Given the description of an element on the screen output the (x, y) to click on. 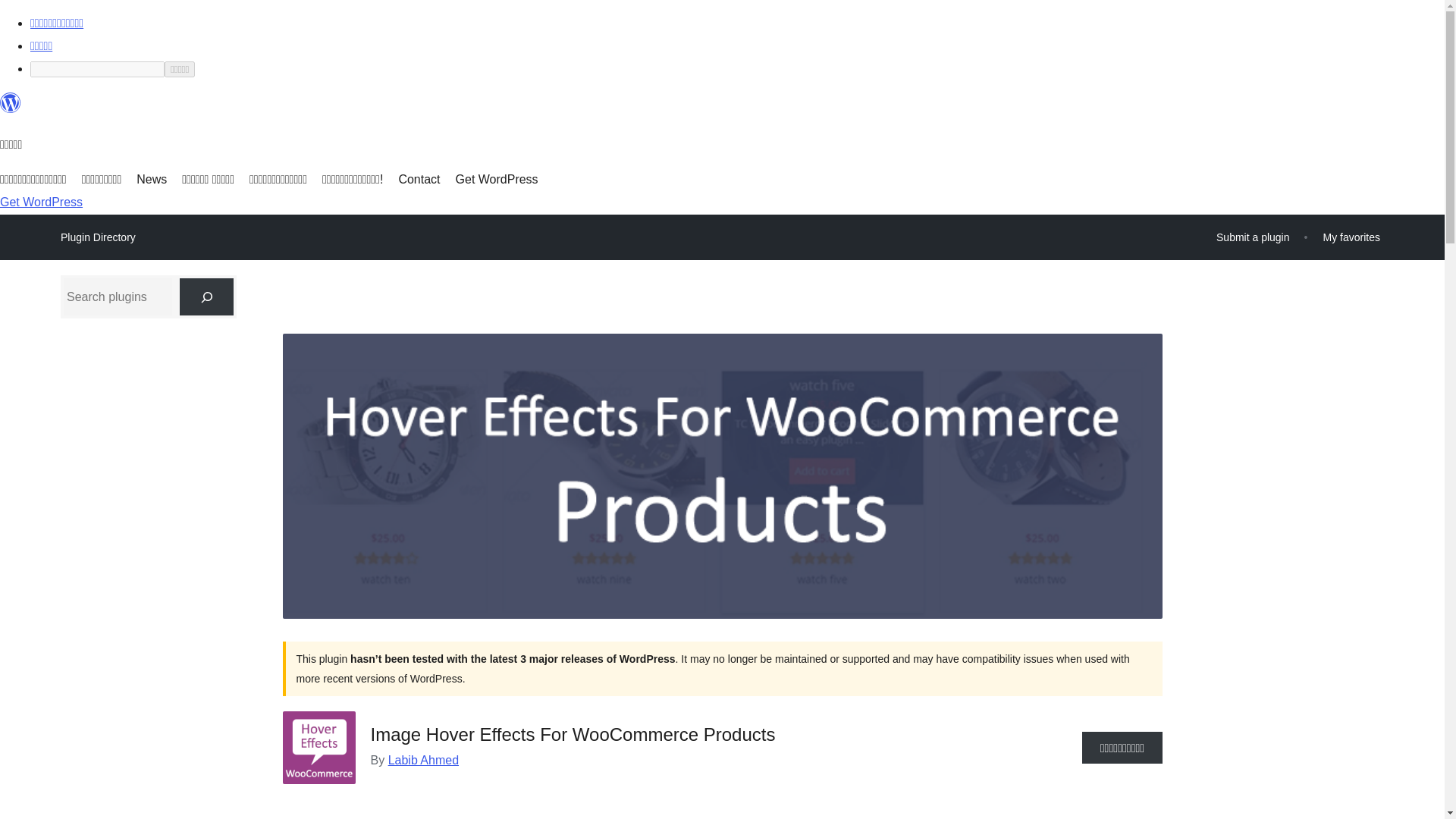
Get WordPress (496, 179)
Details (316, 813)
Reviews (392, 813)
Contact (418, 179)
News (151, 179)
Get WordPress (41, 201)
Plugin Directory (97, 237)
WordPress.org (10, 109)
Labib Ahmed (423, 759)
WordPress.org (10, 102)
Submit a plugin (1253, 236)
My favorites (1351, 236)
Development (487, 813)
